Given the description of an element on the screen output the (x, y) to click on. 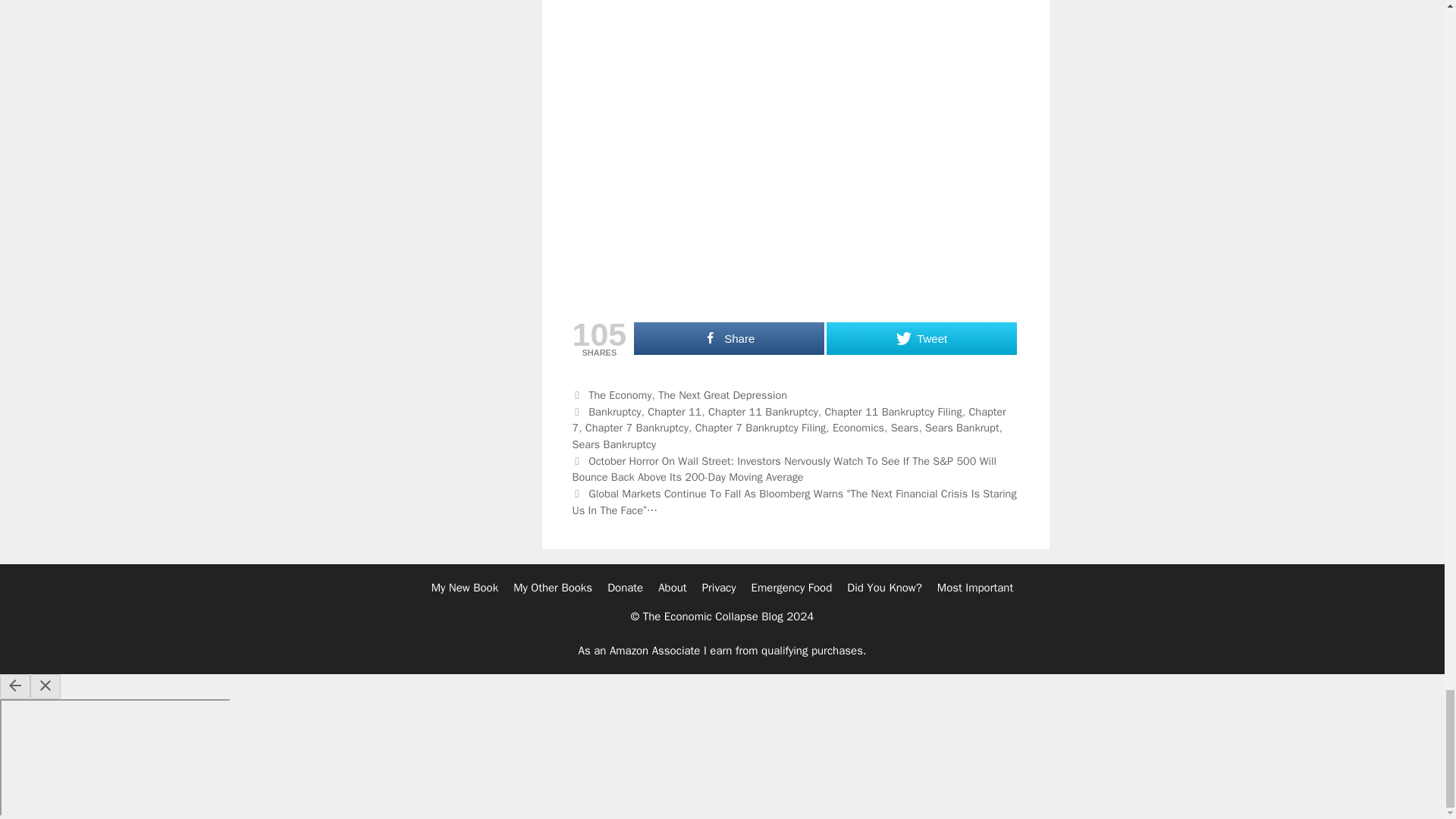
Sears (904, 427)
Share (728, 338)
Economics (857, 427)
Chapter 7 Bankruptcy Filing (761, 427)
Tweet (921, 338)
Chapter 7 (789, 419)
The Next Great Depression (722, 395)
The Economy (619, 395)
Sears Bankrupt (961, 427)
Chapter 7 Bankruptcy (636, 427)
